Given the description of an element on the screen output the (x, y) to click on. 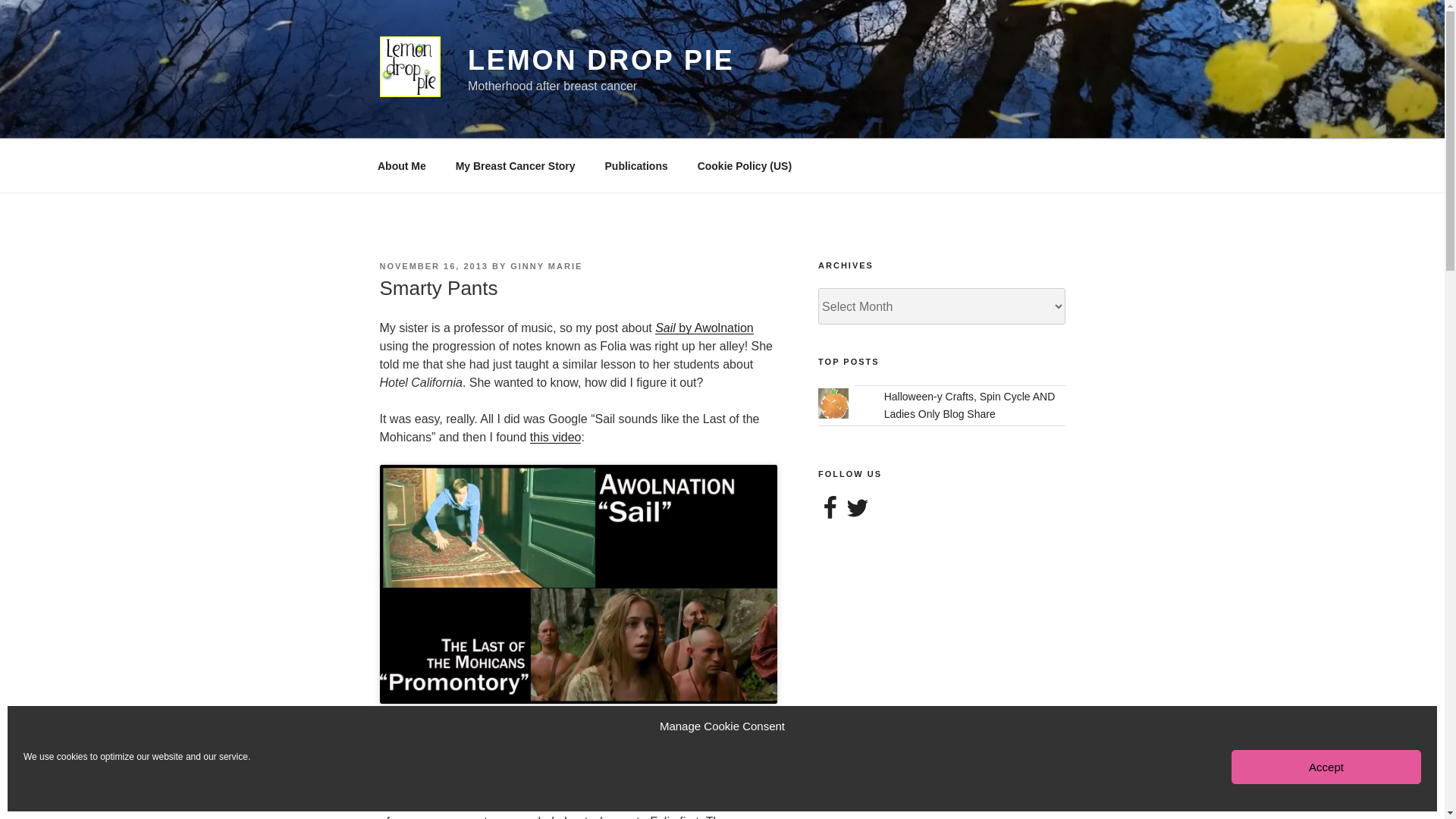
Accept (1326, 766)
Sail (665, 327)
Sail (714, 327)
LEMON DROP PIE (601, 60)
Publications (636, 165)
About Me (401, 165)
NOVEMBER 16, 2013 (432, 266)
this video (554, 436)
Halloween-y Crafts, Spin Cycle AND Ladies Only Blog Share (969, 404)
Sail (665, 327)
